Given the description of an element on the screen output the (x, y) to click on. 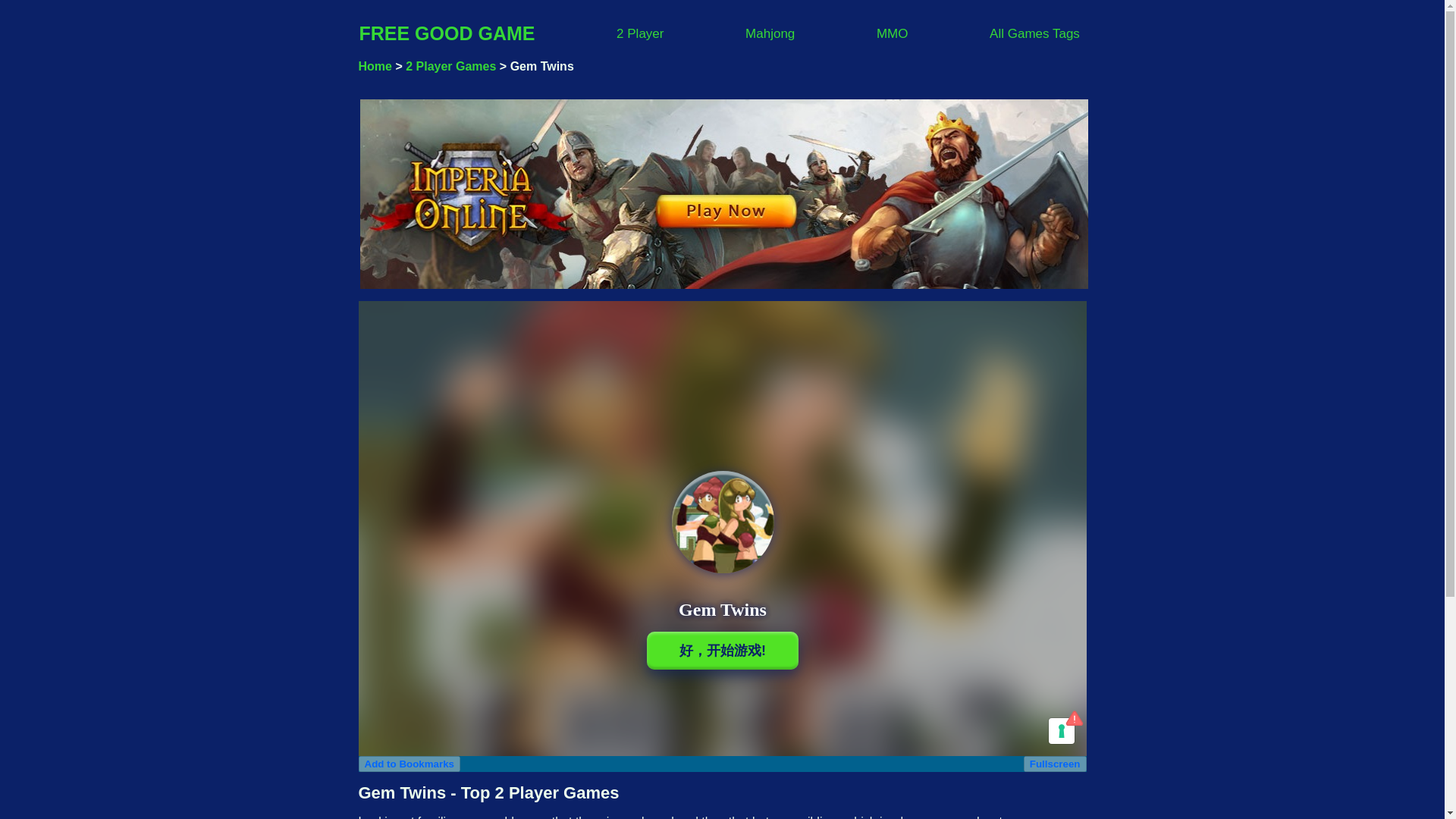
2 Player (639, 32)
All Games Tags (1035, 32)
2 Player Games (451, 65)
Top Mahjong Games (769, 32)
Top 2 Player Games (639, 32)
Fullscreen (1054, 763)
Mahjong (769, 32)
All Games Tags (1035, 32)
Home (374, 65)
Free Online Games (447, 33)
Free Online Games (374, 65)
MMO (892, 32)
FREE GOOD GAME (447, 33)
Add to Bookmarks (409, 763)
